Given the description of an element on the screen output the (x, y) to click on. 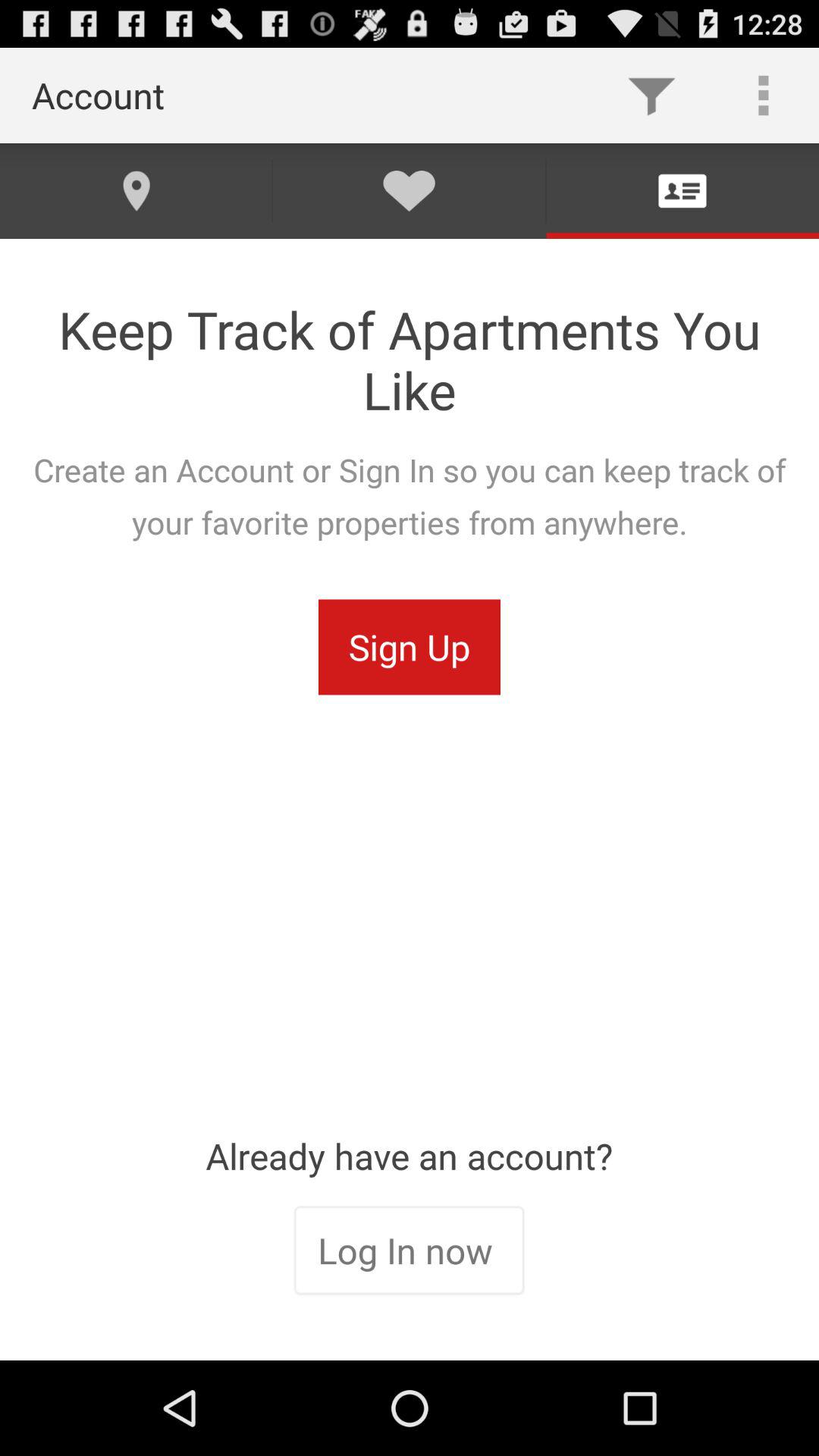
open item next to the account app (651, 95)
